Given the description of an element on the screen output the (x, y) to click on. 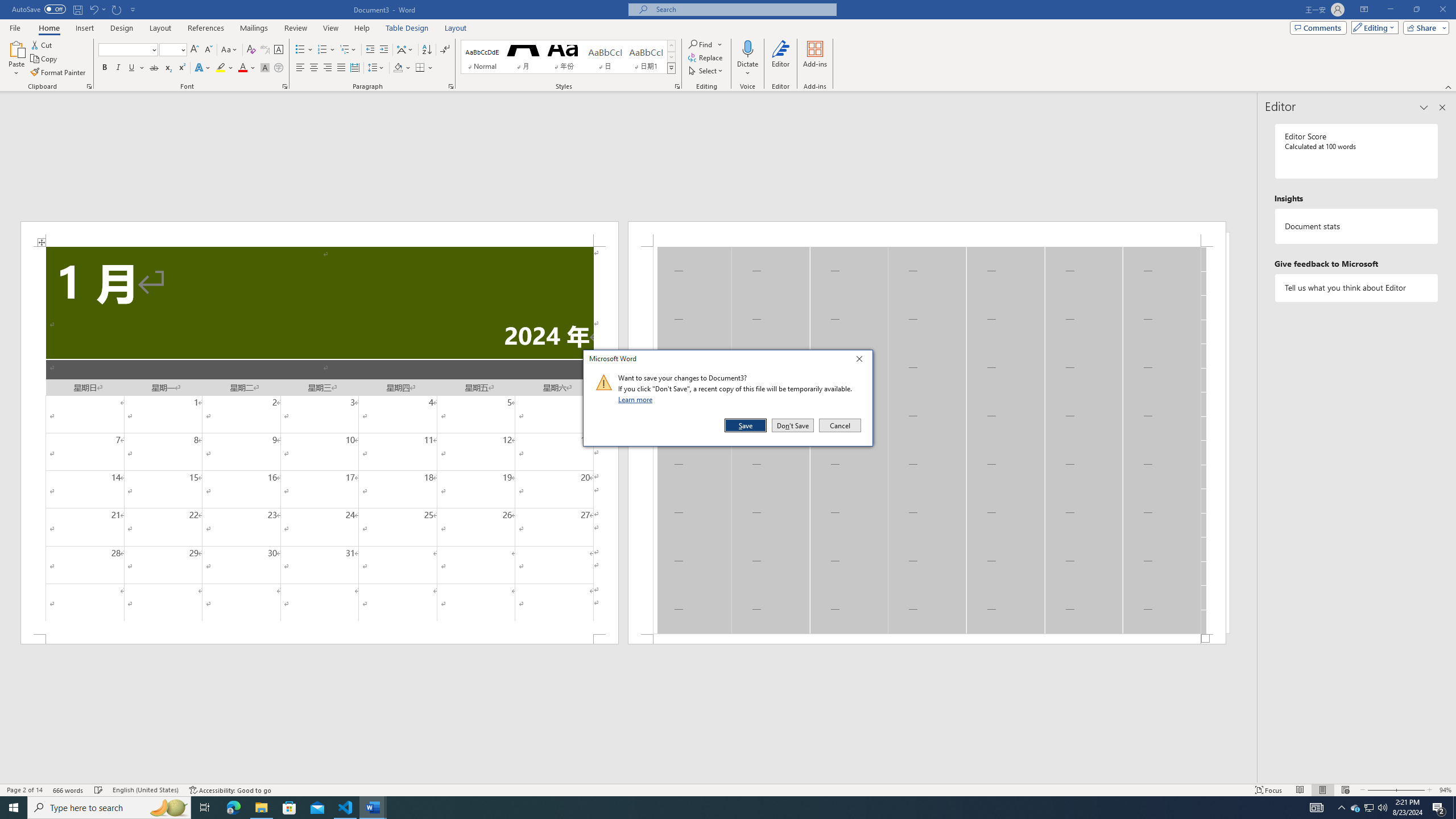
Word - 2 running windows (373, 807)
